Given the description of an element on the screen output the (x, y) to click on. 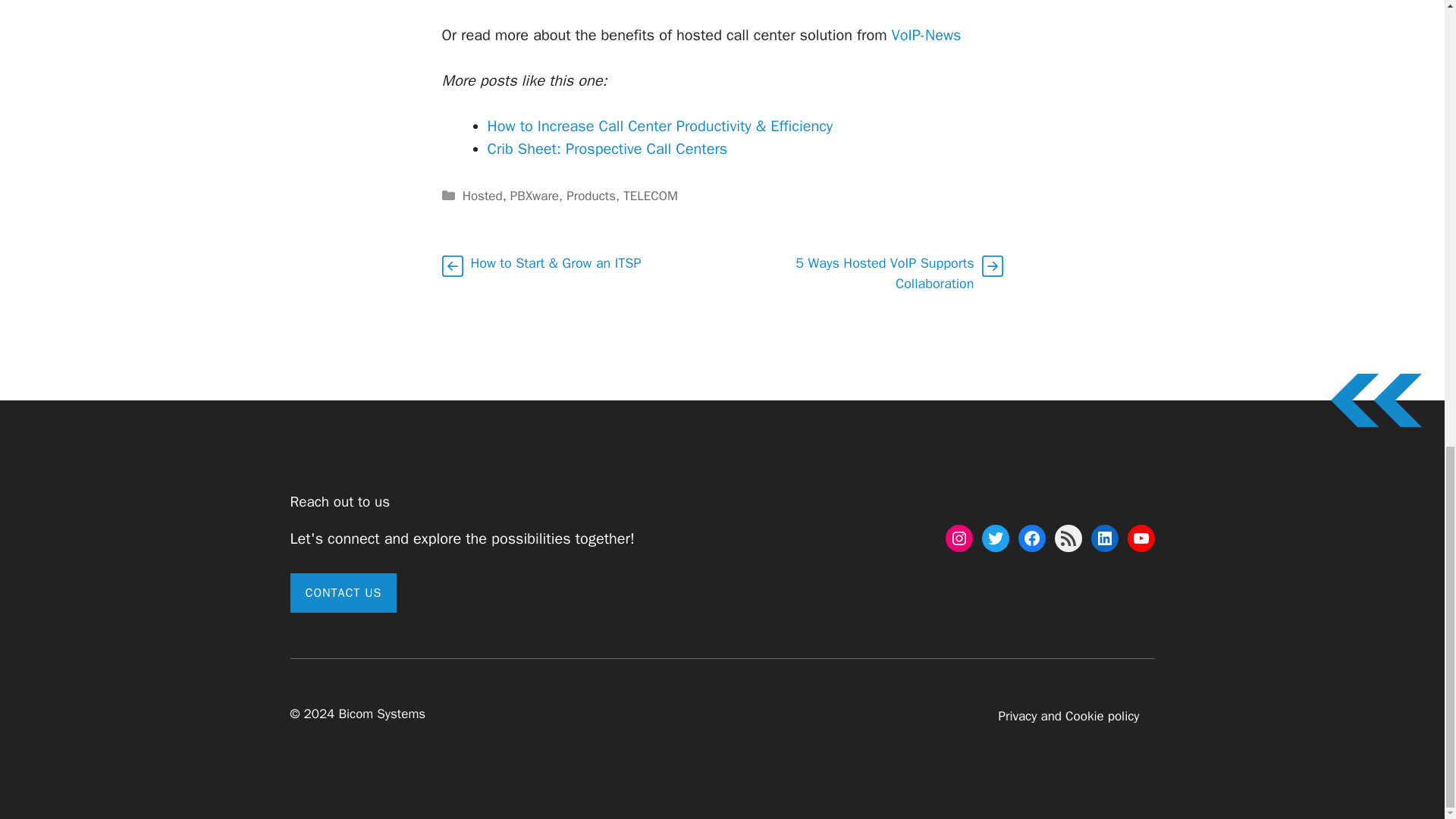
TELECOM (650, 195)
Instagram (958, 538)
VoIP-News (925, 35)
Products (590, 195)
call center (925, 35)
Twitter (995, 538)
Crib Sheet: Prospective Call Centers (606, 148)
call center (606, 148)
Hosted (482, 195)
Facebook (1031, 538)
